Given the description of an element on the screen output the (x, y) to click on. 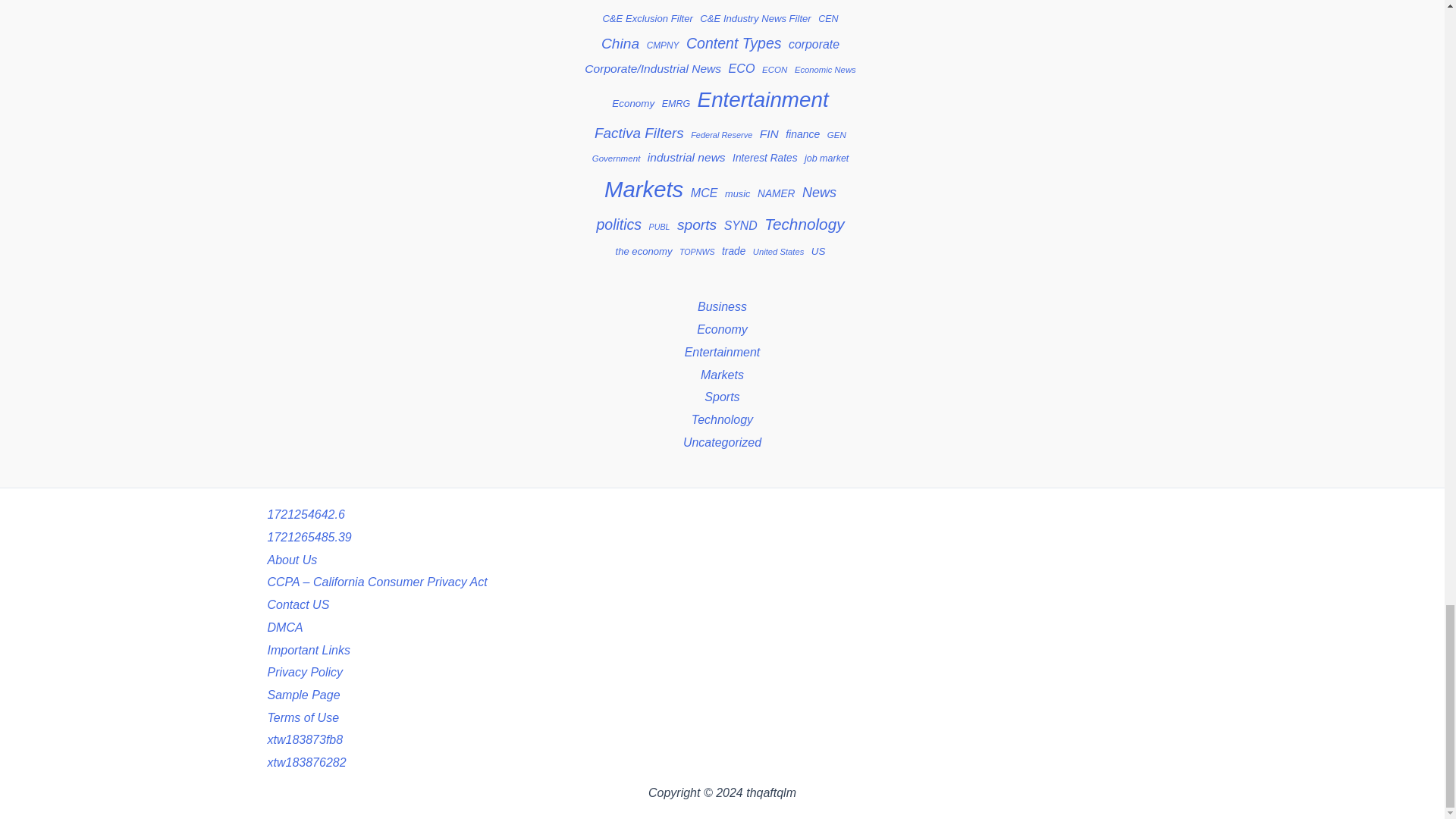
Business (668, 3)
business news (764, 1)
